Given the description of an element on the screen output the (x, y) to click on. 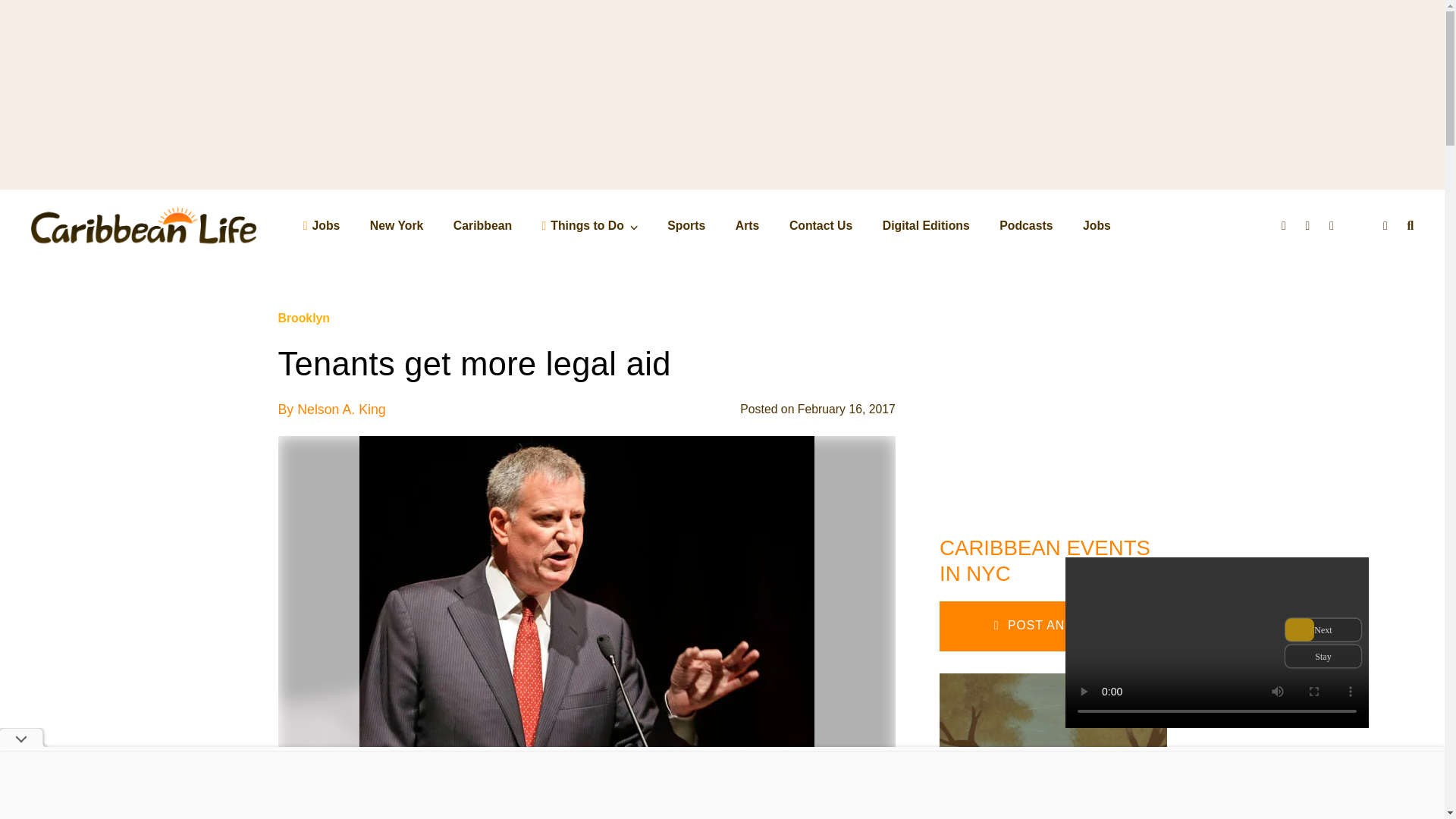
Digital Editions (925, 225)
Jobs (1096, 225)
Sports (685, 225)
Contact Us (820, 225)
Jobs (321, 225)
Podcasts (1025, 225)
New York (396, 225)
Arts (747, 225)
Caribbean (482, 225)
Things to Do (589, 225)
